Given the description of an element on the screen output the (x, y) to click on. 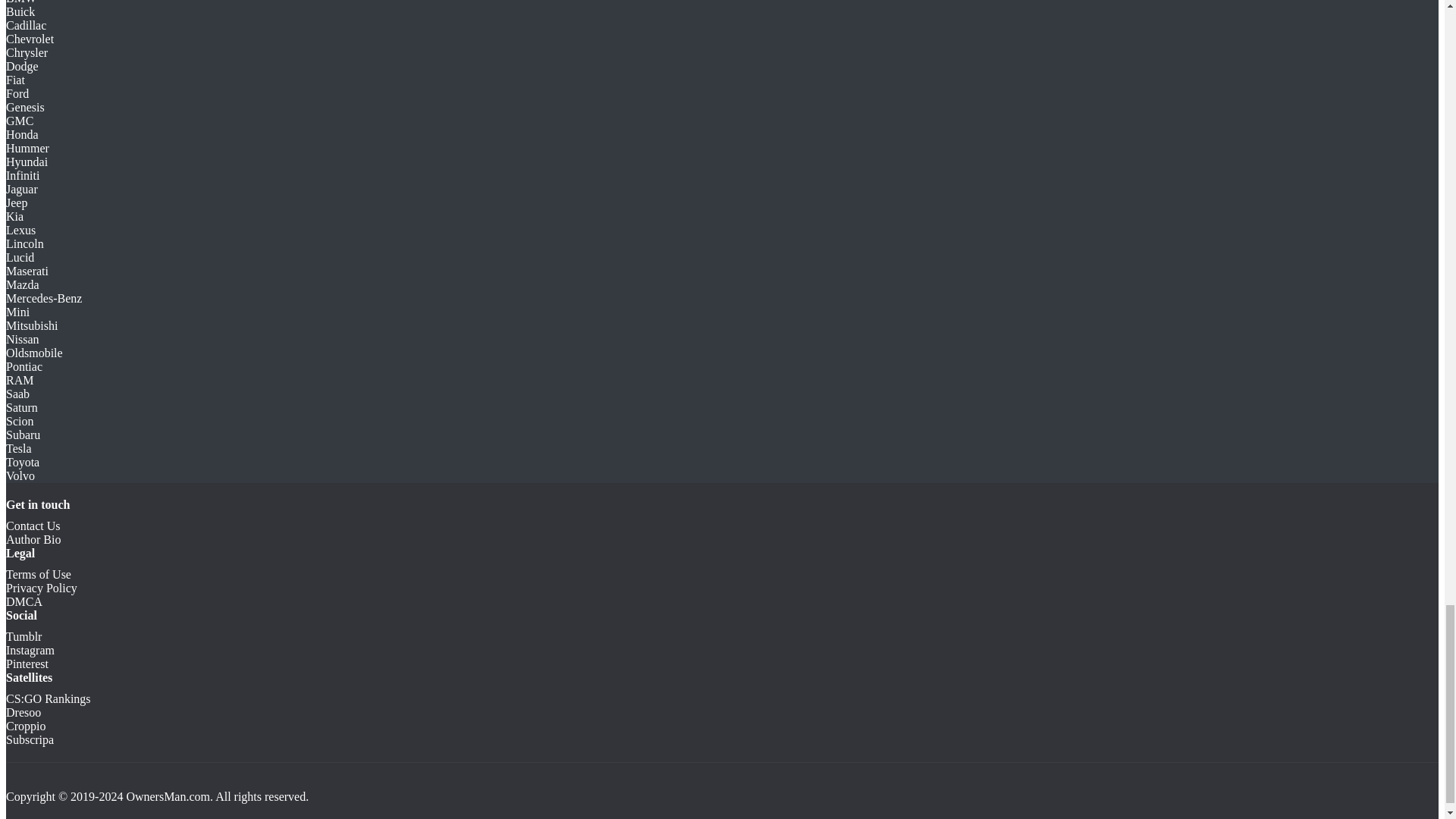
Lexus (19, 229)
Jeep (16, 202)
Maserati (26, 270)
Fiat (14, 79)
CS:GO Rankings (47, 698)
Dresoo (22, 712)
Kia (14, 215)
Hyundai (26, 161)
Lincoln (24, 243)
Ford (17, 92)
Hummer (27, 147)
Mazda (22, 284)
Croppio (25, 725)
Dodge (22, 65)
Jaguar (21, 188)
